Given the description of an element on the screen output the (x, y) to click on. 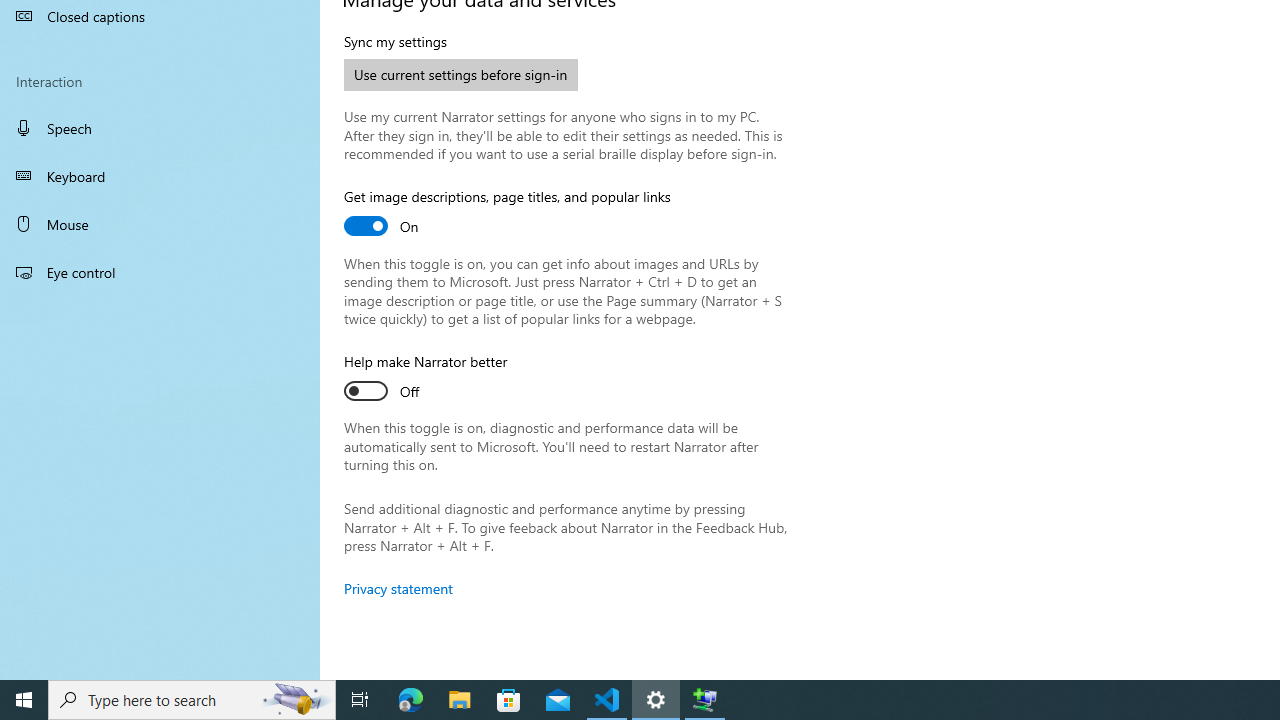
Speech (160, 127)
Help make Narrator better (426, 379)
Mouse (160, 223)
Use current settings before sign-in (461, 74)
Keyboard (160, 175)
Eye control (160, 271)
Get image descriptions, page titles, and popular links (507, 214)
